Given the description of an element on the screen output the (x, y) to click on. 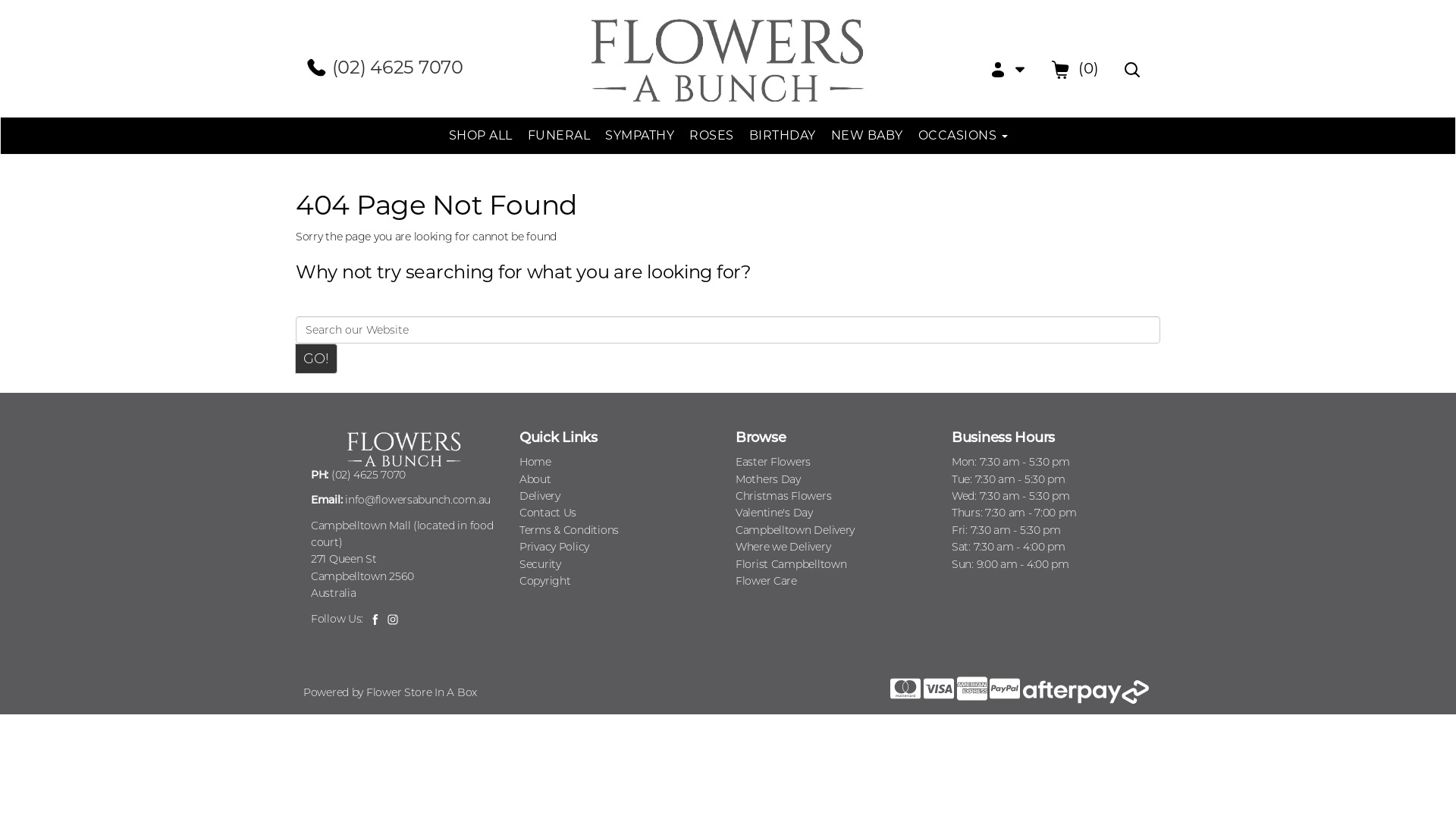
SHOP ALL Element type: text (480, 135)
Home Element type: text (535, 461)
Flower Care Element type: text (766, 580)
Flowers a Bunch Element type: hover (727, 58)
About Element type: text (535, 479)
instagram Element type: text (392, 618)
Where we Delivery Element type: text (782, 546)
OCCASIONS Element type: text (962, 135)
ROSES Element type: text (711, 135)
(02) 4625 7070 Element type: text (383, 67)
BIRTHDAY Element type: text (782, 135)
info@flowersabunch.com.au Element type: text (417, 499)
Flower Store In A Box Element type: text (421, 692)
Florist Campbelltown Element type: text (790, 564)
Campbelltown Delivery Element type: text (794, 529)
FUNERAL Element type: text (559, 135)
Security Element type: text (540, 564)
Copyright Element type: text (544, 580)
Christmas Flowers Element type: text (783, 495)
GO! Element type: text (315, 358)
Easter Flowers Element type: text (772, 461)
Delivery Element type: text (539, 495)
Mothers Day Element type: text (767, 479)
Contact Us Element type: text (547, 512)
Search Element type: hover (1132, 68)
Privacy Policy Element type: text (554, 546)
SYMPATHY Element type: text (639, 135)
Terms & Conditions Element type: text (568, 529)
NEW BABY Element type: text (866, 135)
Valentine's Day Element type: text (773, 512)
